Given the description of an element on the screen output the (x, y) to click on. 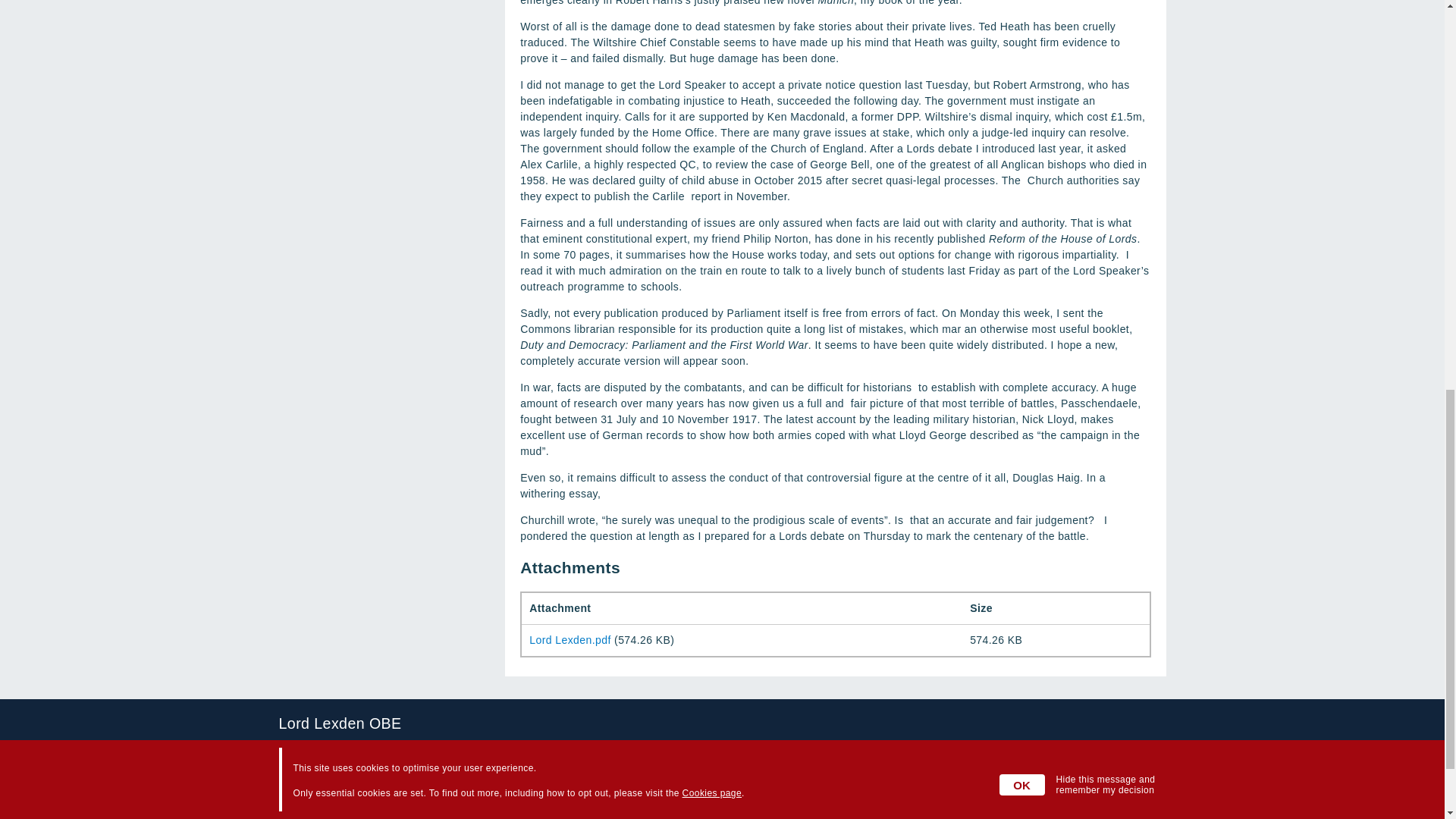
Lord Lexden OBE (722, 723)
Accessibility (309, 767)
About RSS (306, 752)
About Lord Lexden (476, 752)
Articles and Reviews (481, 767)
Publications (460, 814)
Privacy (297, 799)
Cookies (299, 784)
Letters (446, 784)
Parliament (456, 799)
Lord Lexden.pdf (570, 639)
